Given the description of an element on the screen output the (x, y) to click on. 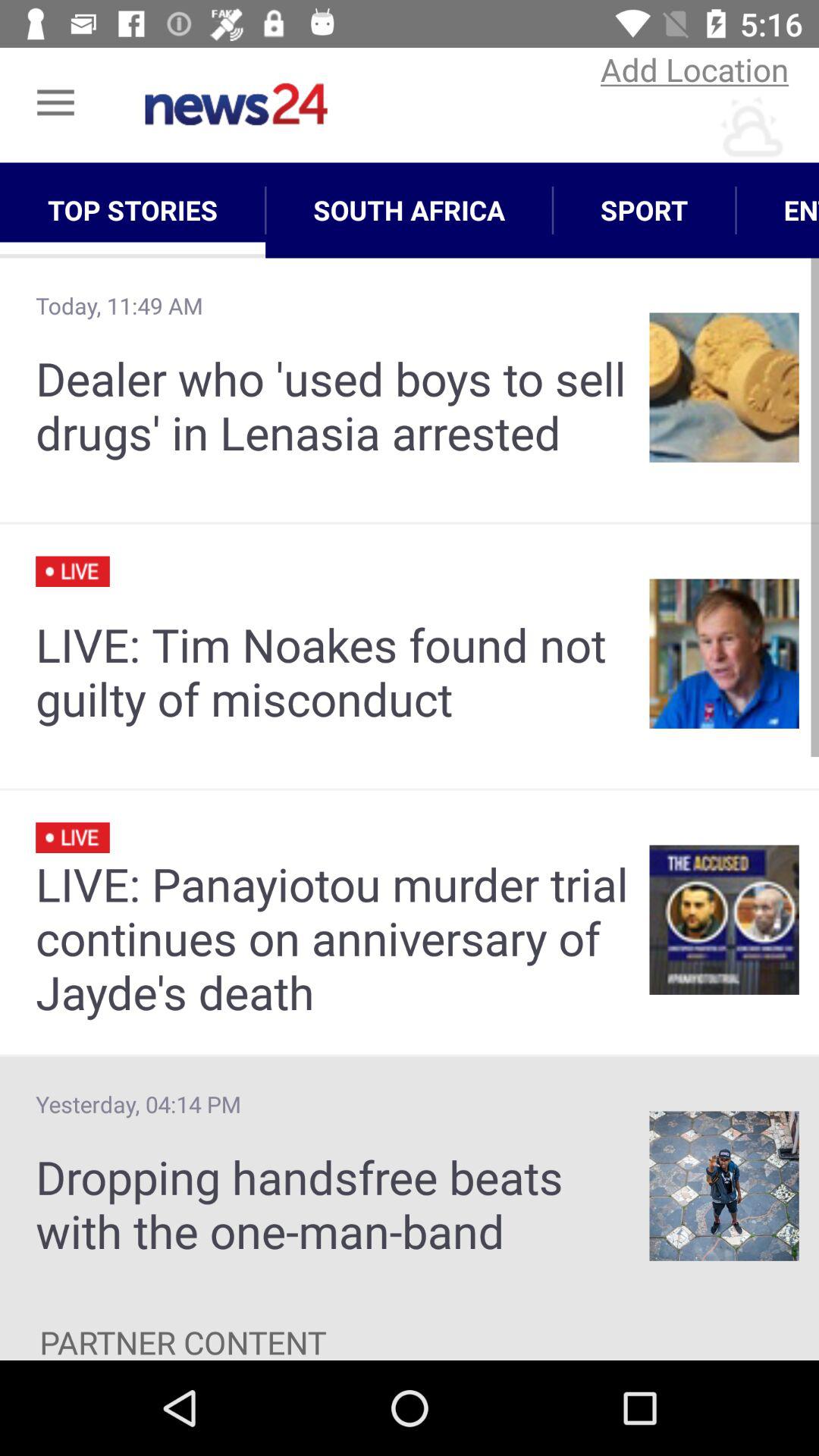
open app next to sport (408, 210)
